Given the description of an element on the screen output the (x, y) to click on. 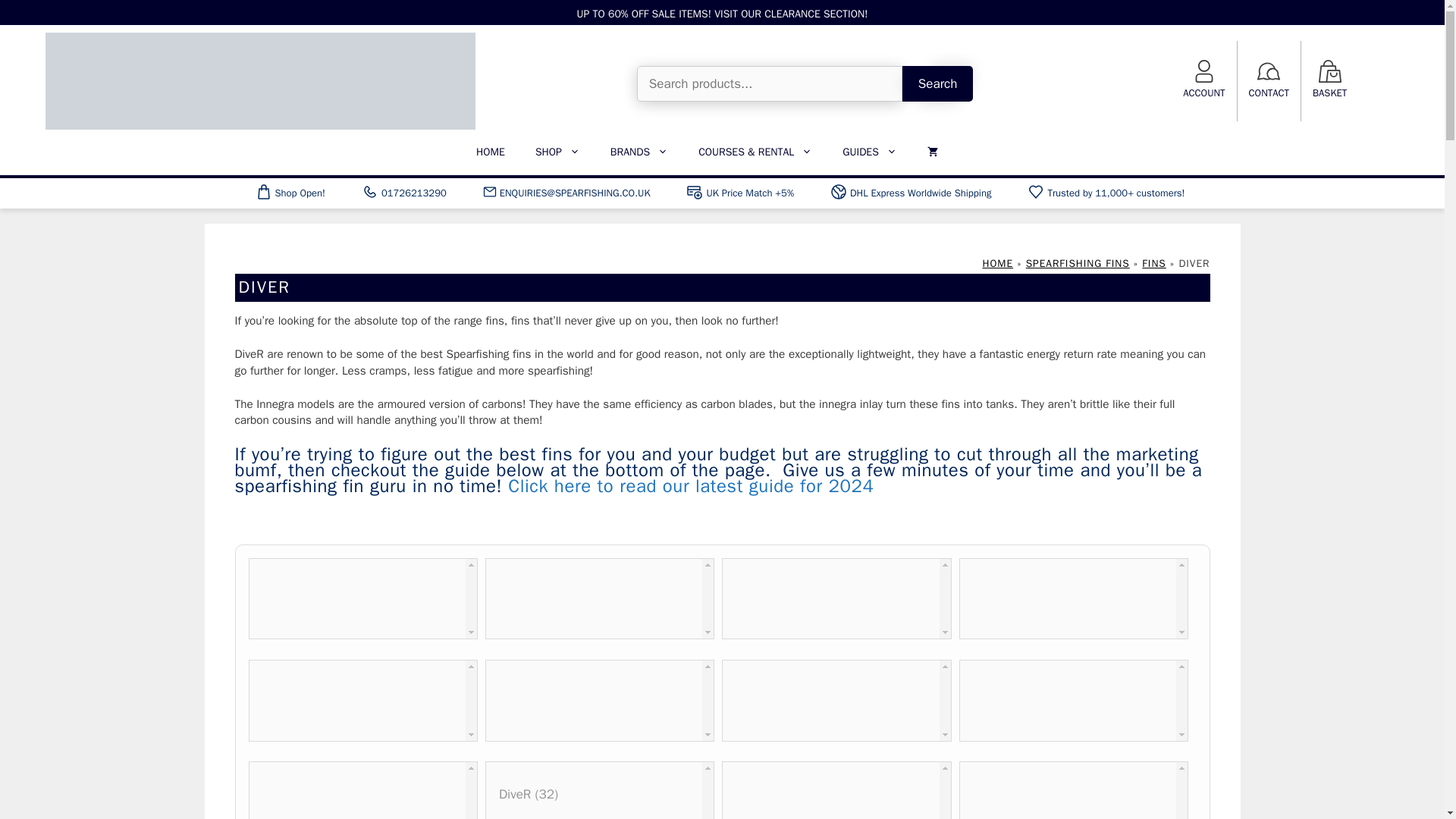
Search (938, 84)
chat (1268, 70)
CONTACT (1269, 92)
user (1203, 70)
View your shopping cart (932, 152)
BASKET (1329, 92)
SHOP (557, 152)
ACCOUNT (1203, 92)
shopping bag (1329, 70)
HOME (490, 152)
